Given the description of an element on the screen output the (x, y) to click on. 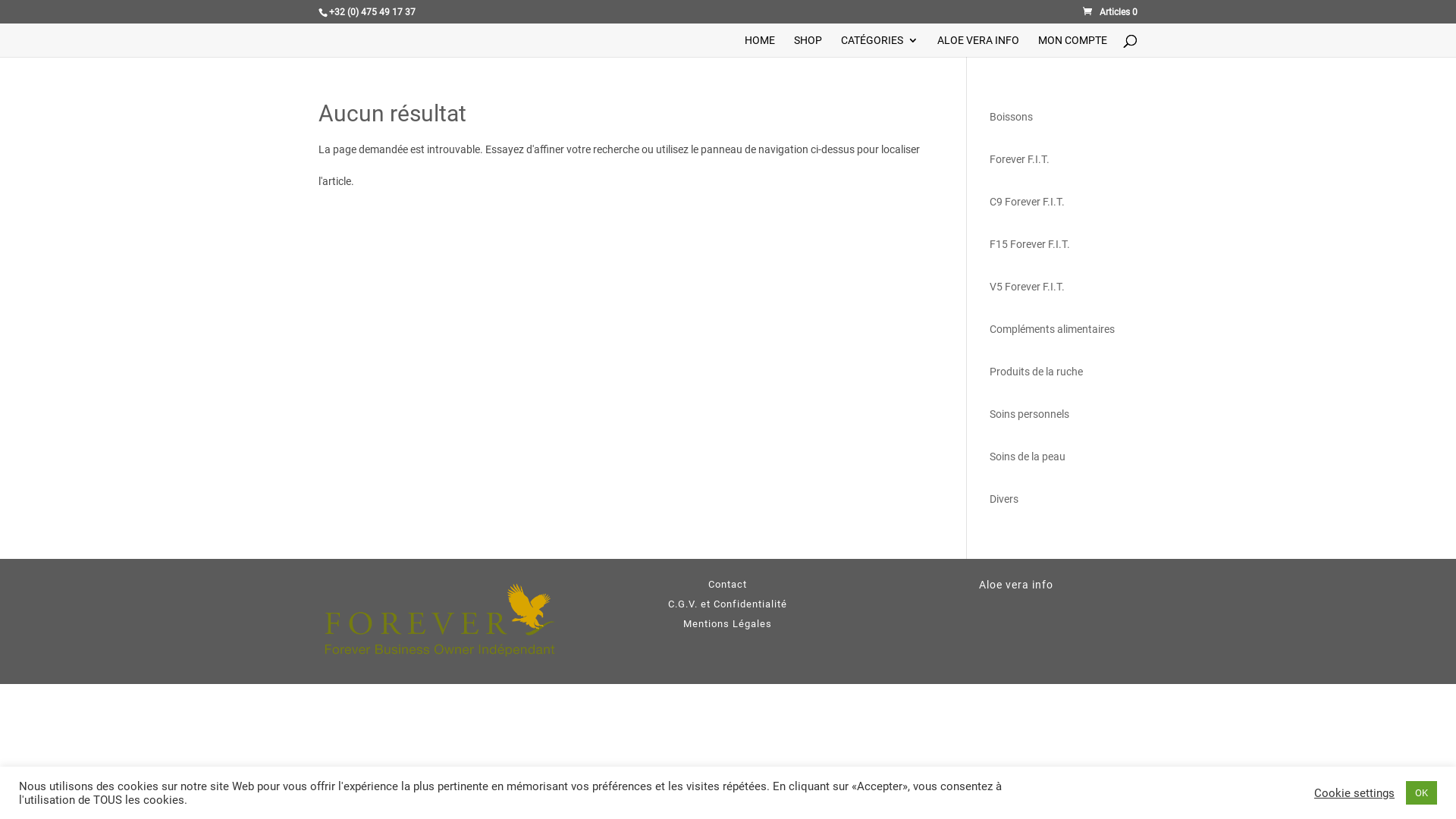
C9 Forever F.I.T. Element type: text (1026, 201)
SHOP Element type: text (807, 45)
F15 Forever F.I.T. Element type: text (1029, 244)
Aloe vera info Element type: text (1016, 584)
HOME Element type: text (759, 45)
Soins personnels Element type: text (1029, 413)
Soins de la peau Element type: text (1027, 456)
Divers Element type: text (1003, 498)
MON COMPTE Element type: text (1072, 45)
Articles 0 Element type: text (1109, 11)
ALOE VERA INFO Element type: text (978, 45)
Produits de la ruche Element type: text (1035, 371)
OK Element type: text (1421, 792)
Forever F.I.T. Element type: text (1019, 159)
Contact Element type: text (727, 583)
V5 Forever F.I.T. Element type: text (1026, 286)
Cookie settings Element type: text (1354, 792)
Boissons Element type: text (1010, 116)
Forever_Business_Owner_Independant_logo_FR Element type: hover (439, 621)
